Given the description of an element on the screen output the (x, y) to click on. 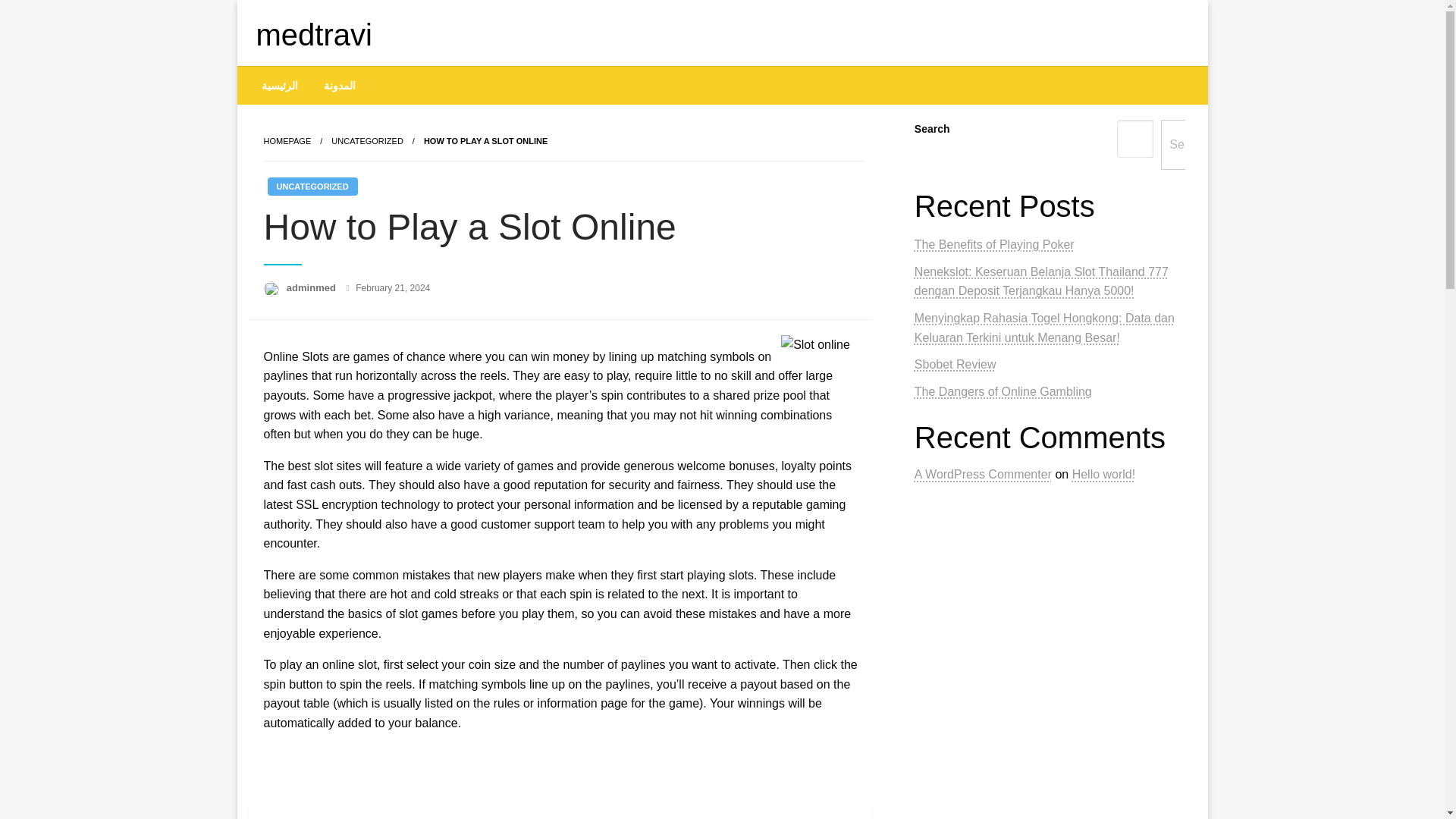
Search (1187, 144)
Homepage (287, 140)
Sbobet Review (954, 364)
medtravi (314, 34)
A WordPress Commenter (982, 473)
February 21, 2024 (392, 287)
adminmed (312, 287)
The Dangers of Online Gambling (1003, 391)
Hello world! (1103, 473)
